Given the description of an element on the screen output the (x, y) to click on. 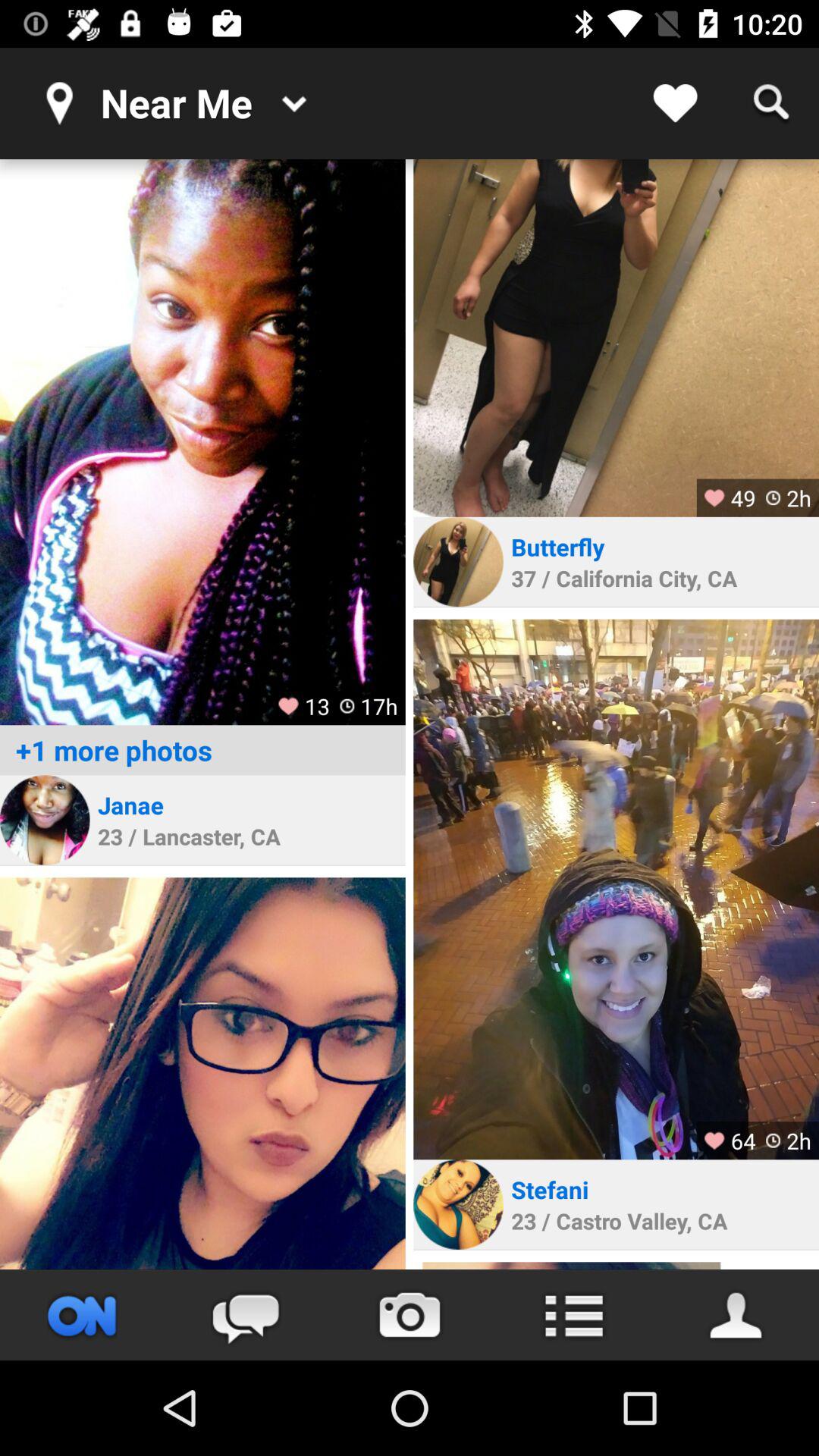
view profile (202, 1073)
